Given the description of an element on the screen output the (x, y) to click on. 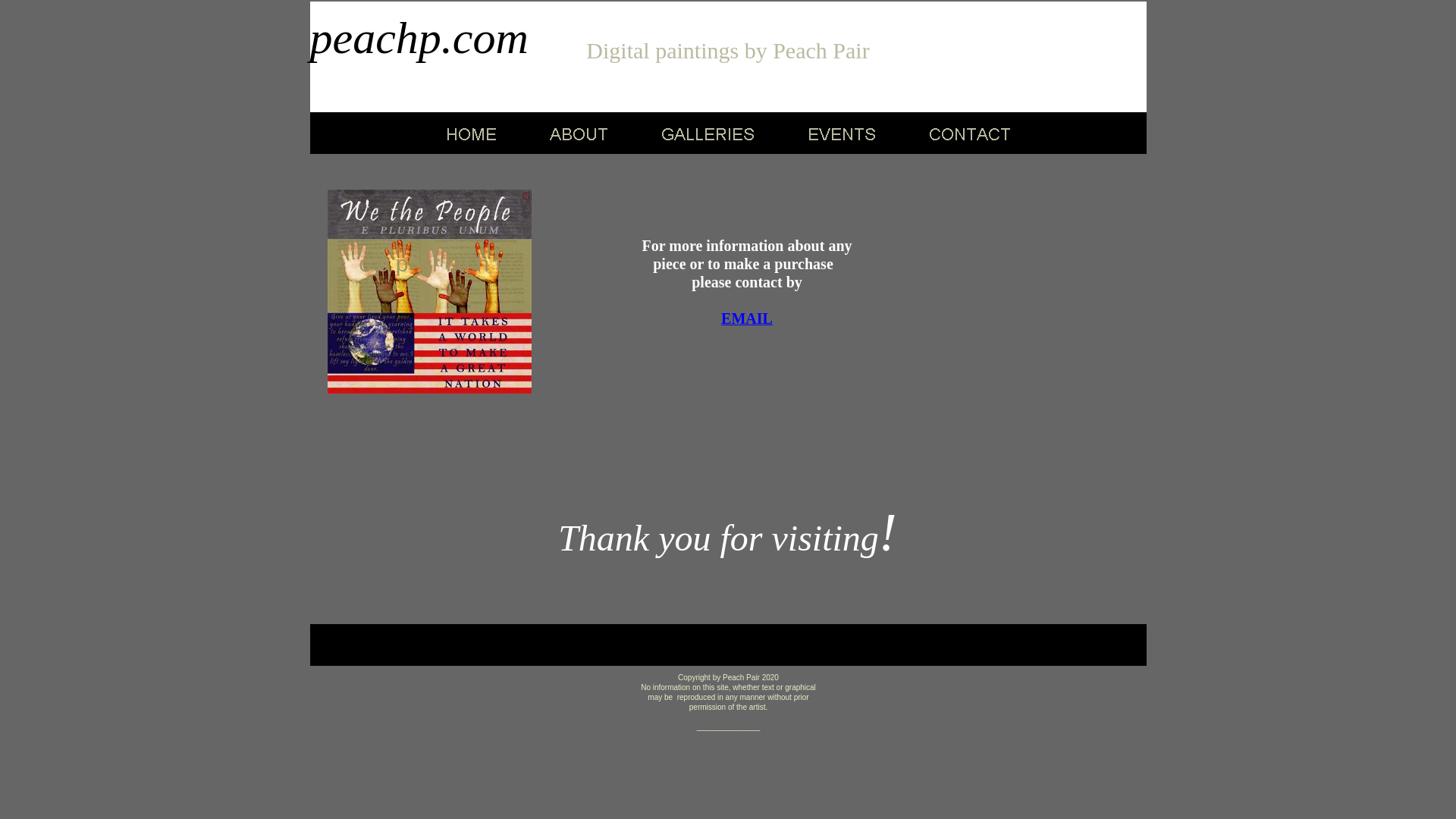
EMAIL (746, 318)
